Given the description of an element on the screen output the (x, y) to click on. 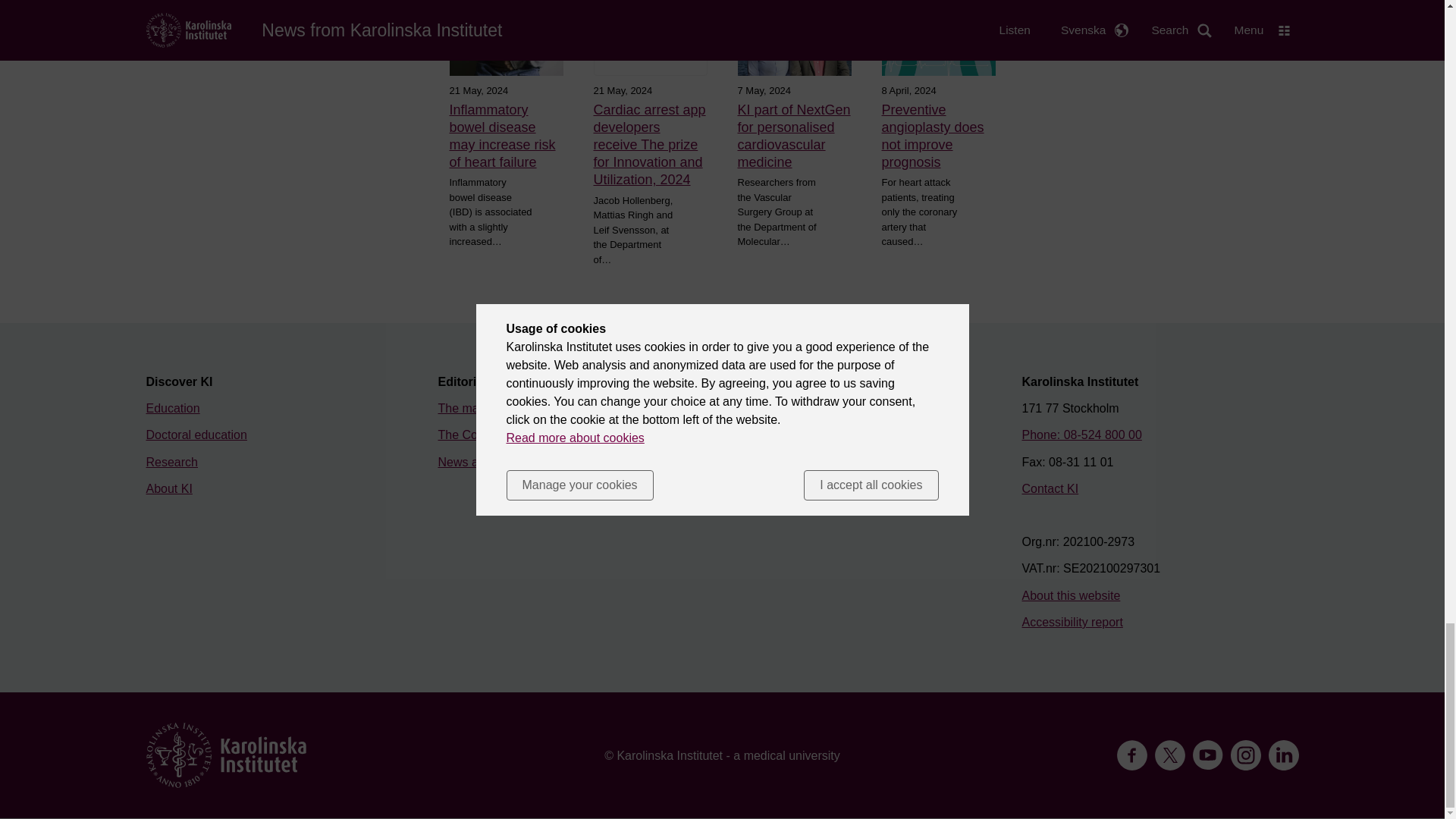
KI part of NextGen for personalised cardiovascular medicine (793, 136)
Research (170, 461)
Preventive angioplasty does not improve prognosis (937, 136)
About KI (168, 488)
The Conversation (486, 434)
Home (225, 754)
The press office (772, 408)
Doctoral education (195, 434)
News archive (474, 461)
Education (172, 408)
The magazine Medicinsk Vetenskap (534, 408)
